Given the description of an element on the screen output the (x, y) to click on. 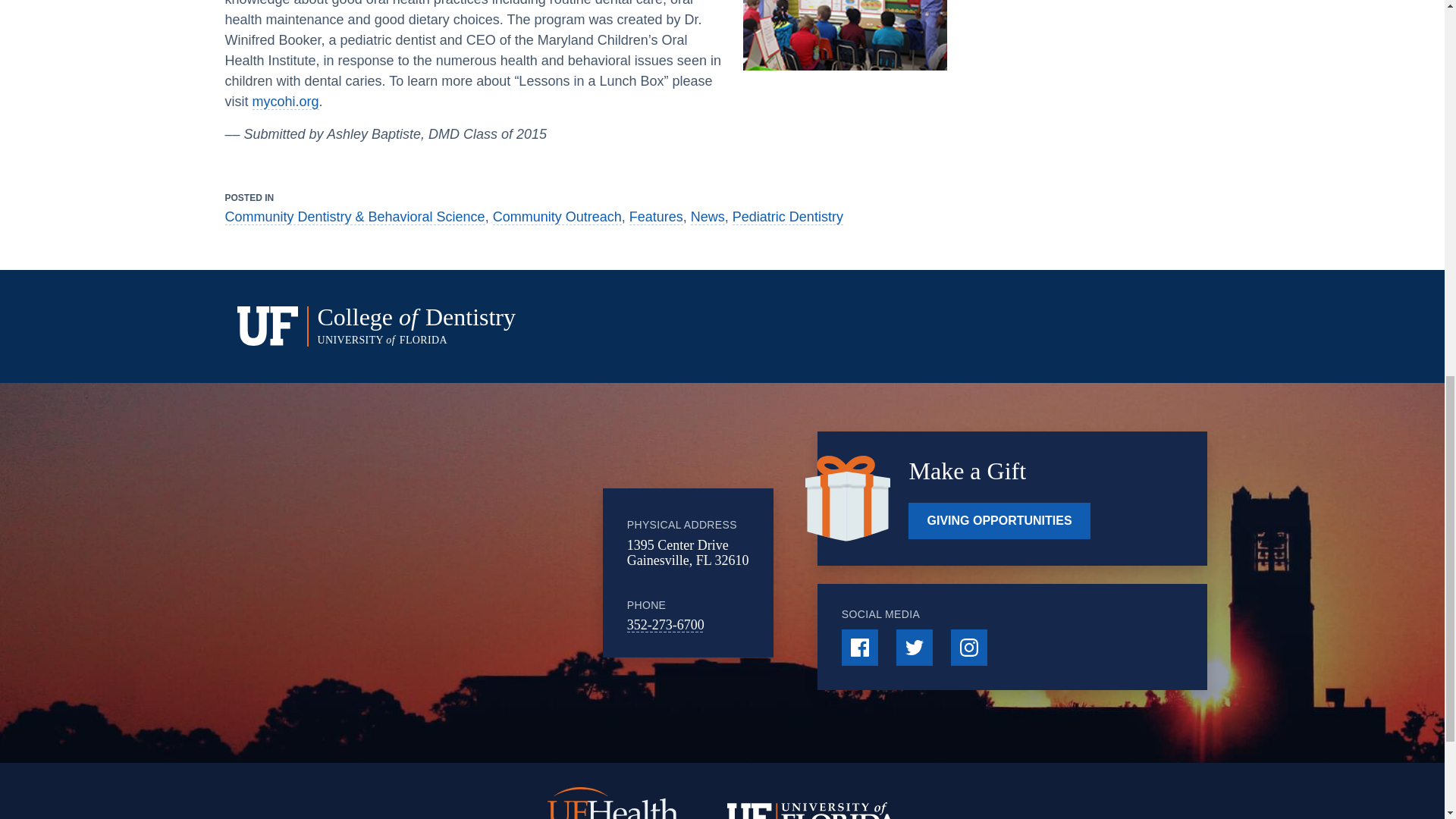
352-273-6700 (665, 624)
Google Maps Embed (478, 573)
